Given the description of an element on the screen output the (x, y) to click on. 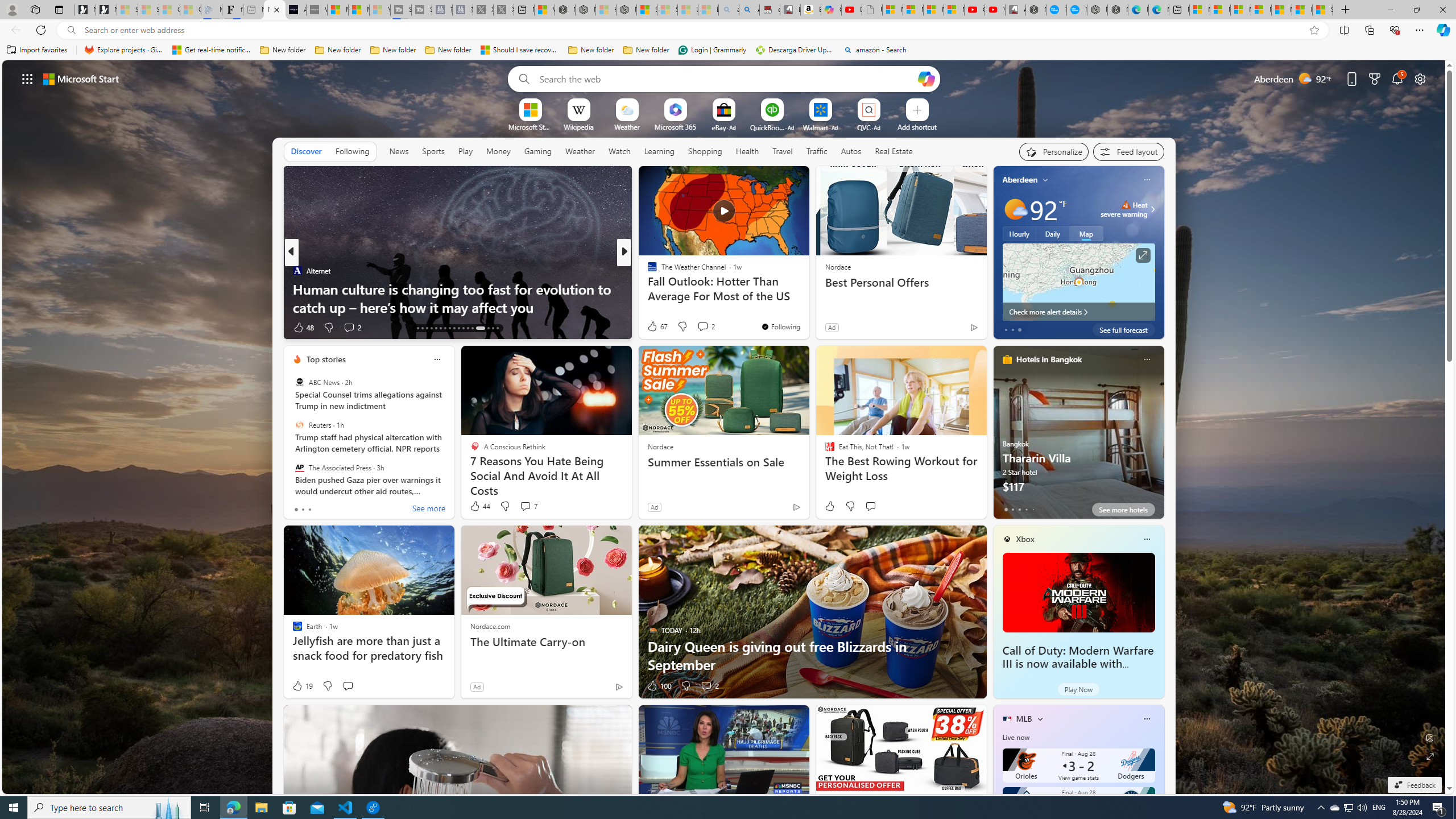
Traffic (816, 151)
Copilot (830, 9)
Autos (850, 151)
AutomationID: tab-42 (492, 328)
Hotels in Bangkok (1048, 359)
AutomationID: tab-25 (454, 328)
News (398, 151)
CNBC (647, 270)
Feed settings (1128, 151)
AutomationID: tab-23 (444, 328)
